Given the description of an element on the screen output the (x, y) to click on. 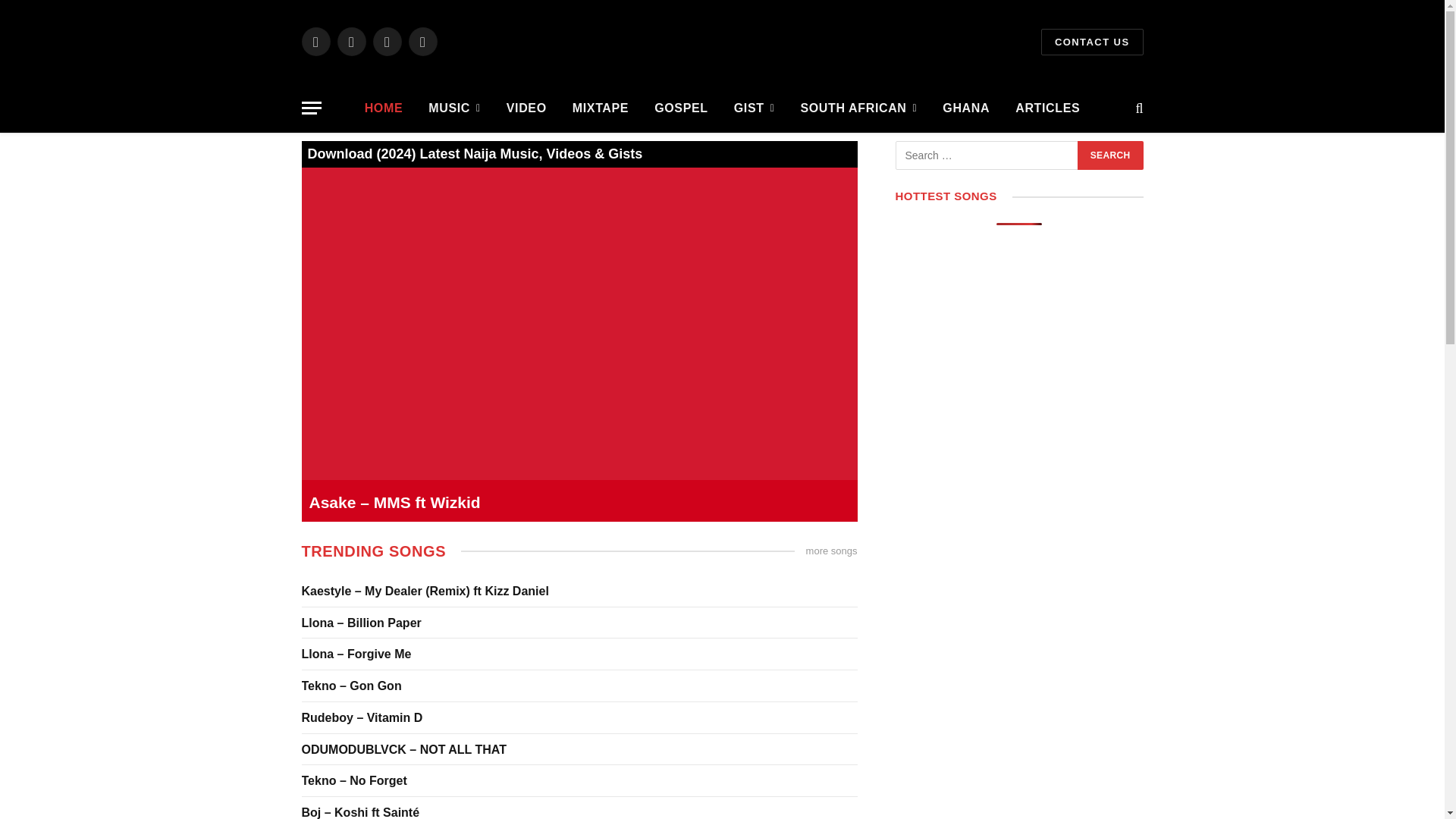
GHANA (966, 107)
MIXTAPE (600, 107)
SOUTH AFRICAN (858, 107)
more songs (831, 550)
HOME (384, 107)
Instagram (386, 41)
Search (1109, 154)
Facebook (315, 41)
GIST (753, 107)
Search (1109, 154)
